Given the description of an element on the screen output the (x, y) to click on. 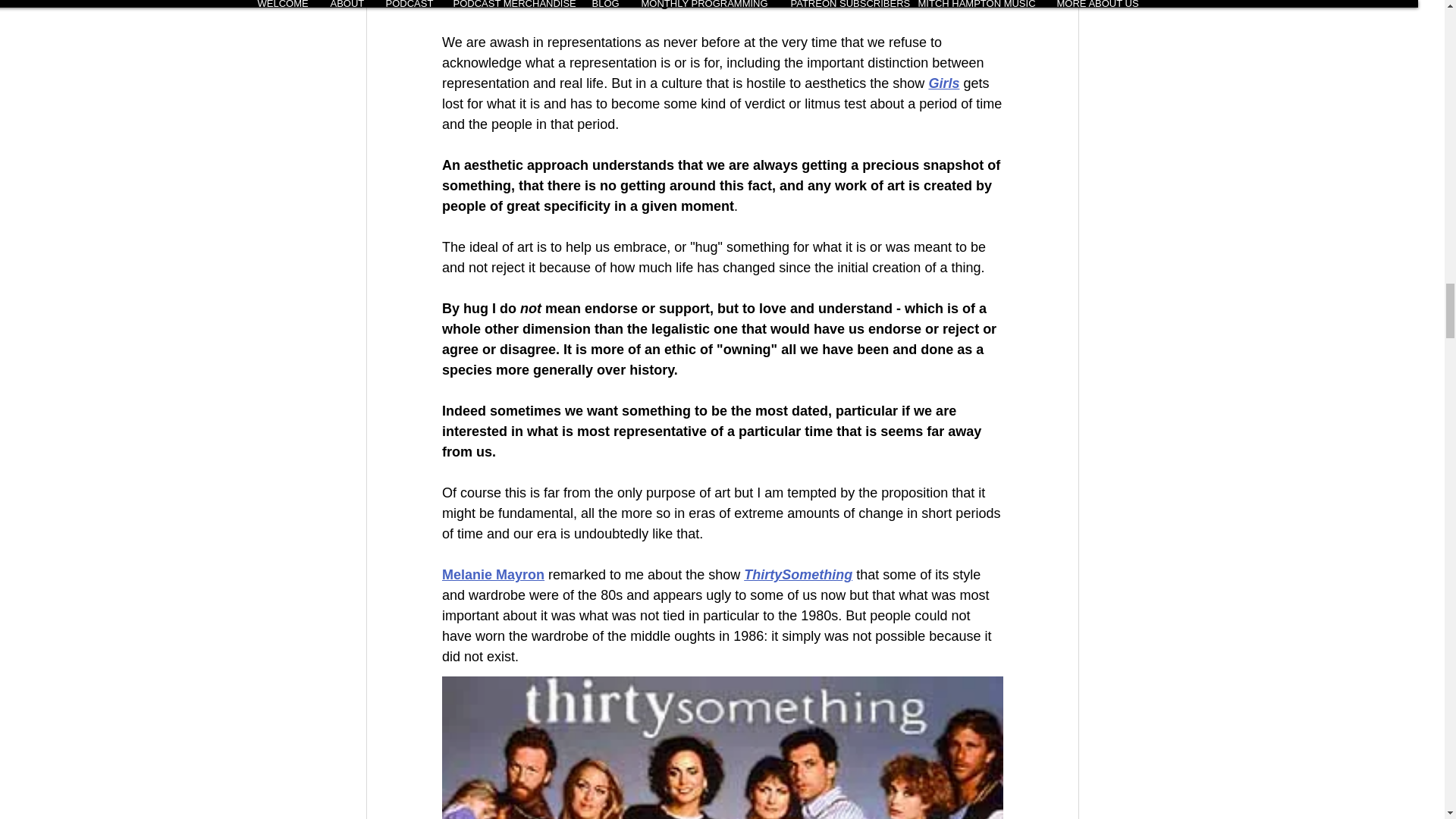
ThirtySomething (797, 574)
Melanie Mayron (492, 574)
Girls (943, 83)
